Given the description of an element on the screen output the (x, y) to click on. 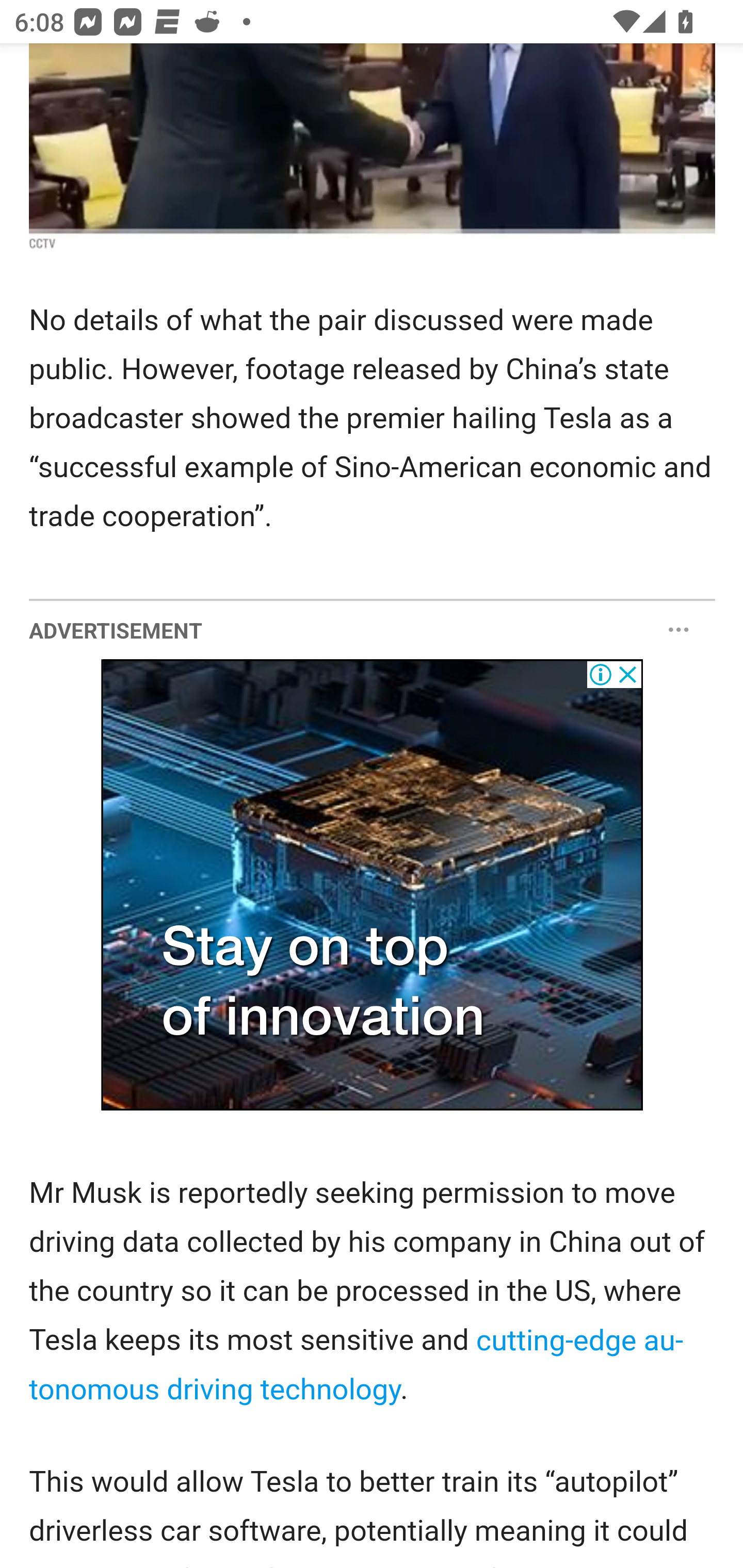
cutting-edge autonomous driving technology (356, 1363)
